Given the description of an element on the screen output the (x, y) to click on. 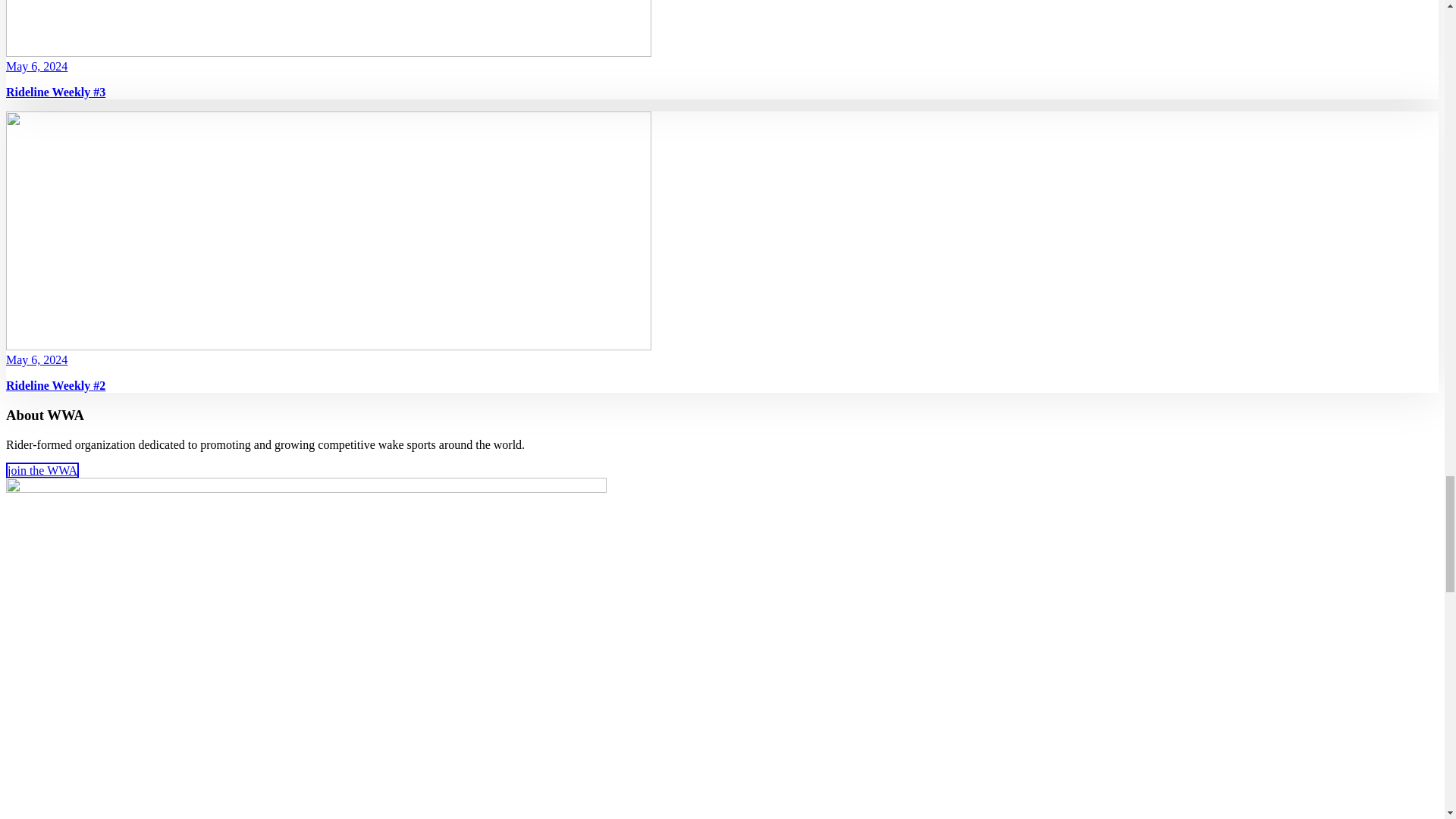
Rideline Weekly Template-3 (327, 28)
